Given the description of an element on the screen output the (x, y) to click on. 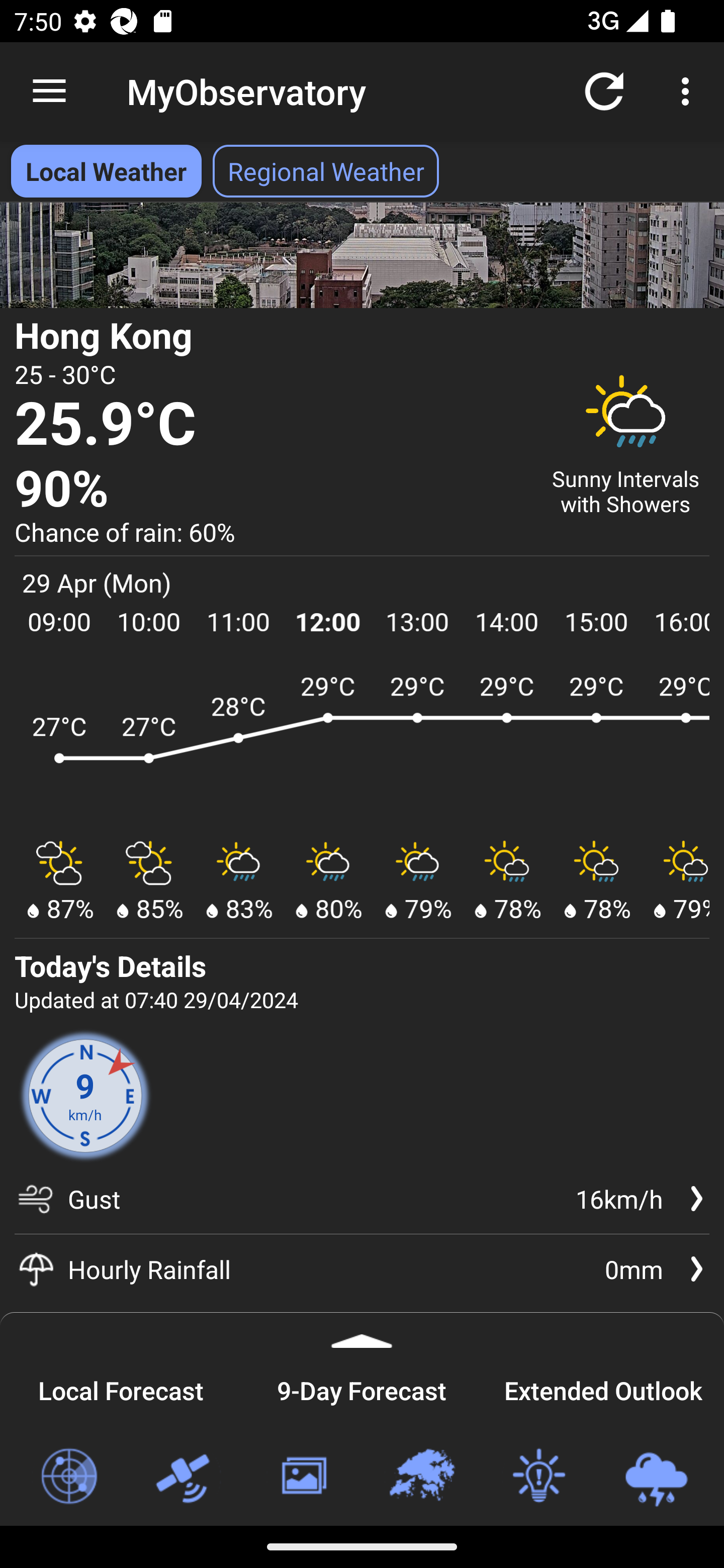
Navigate up (49, 91)
Refresh (604, 90)
More options (688, 90)
Local Weather Local Weather selected (105, 170)
Regional Weather Select Regional Weather (325, 170)
25.9°C Temperature
25.9 degree Celsius (270, 425)
90% Relative Humidity
90 percent (270, 489)
ARWF (361, 746)
Gust 16km/h Gust 16km/h (361, 1205)
Hourly Rainfall 0mm Hourly Rainfall 0mm (361, 1269)
Expand (362, 1330)
Local Forecast (120, 1387)
Extended Outlook (603, 1387)
Radar Images (68, 1476)
Satellite Images (185, 1476)
Weather Photos (302, 1476)
Regional Weather (420, 1476)
Weather Tips (537, 1476)
Loc-based Rain & Lightning Forecast (655, 1476)
